Given the description of an element on the screen output the (x, y) to click on. 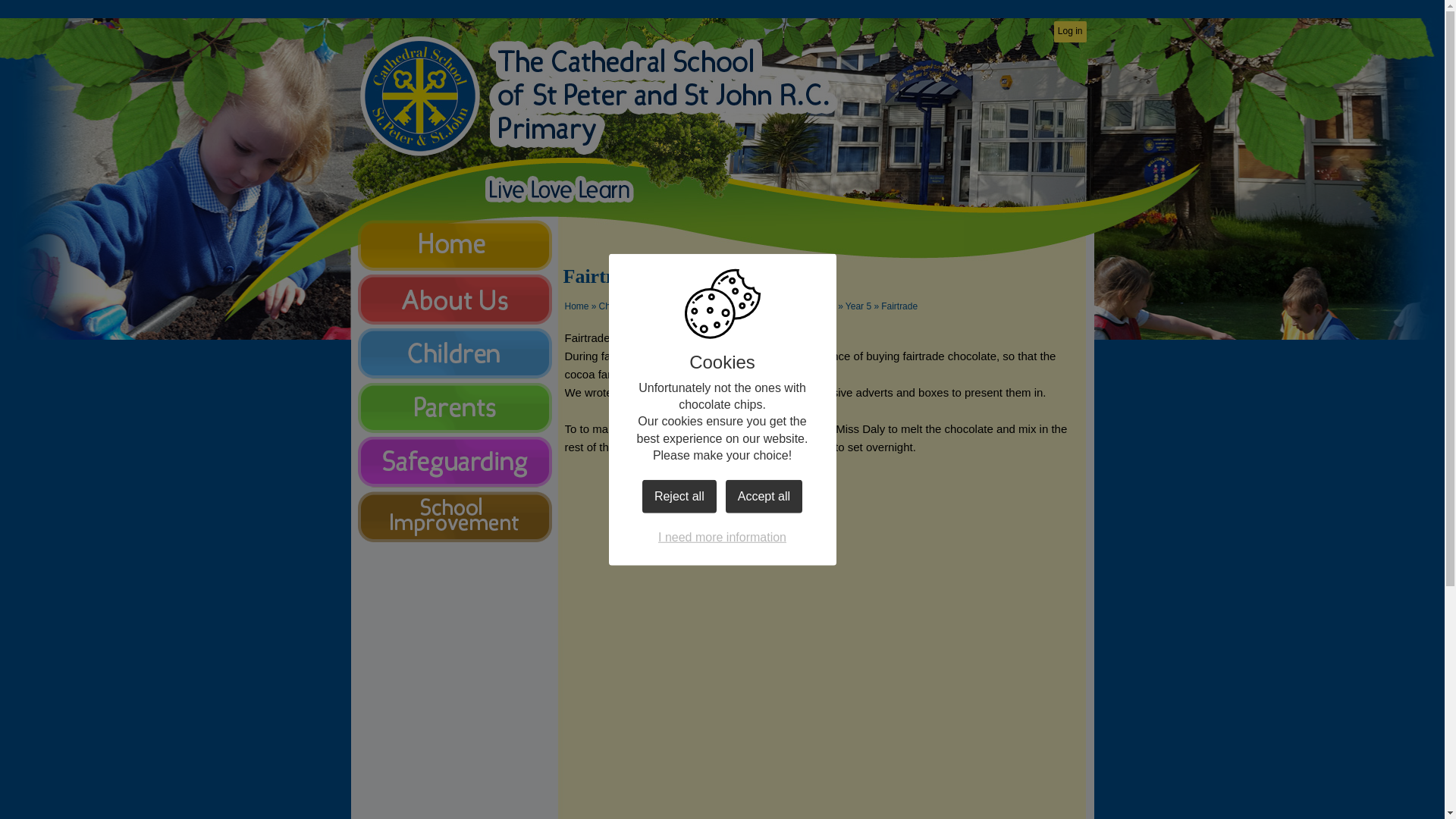
About Us (454, 299)
Home Page (420, 92)
Home (576, 306)
Class Pages Archive: 2016-2017 (769, 306)
Class Pages (667, 306)
Home Page (420, 92)
Log in (1070, 31)
Home (454, 245)
Fairtrade (898, 306)
Children (615, 306)
